Given the description of an element on the screen output the (x, y) to click on. 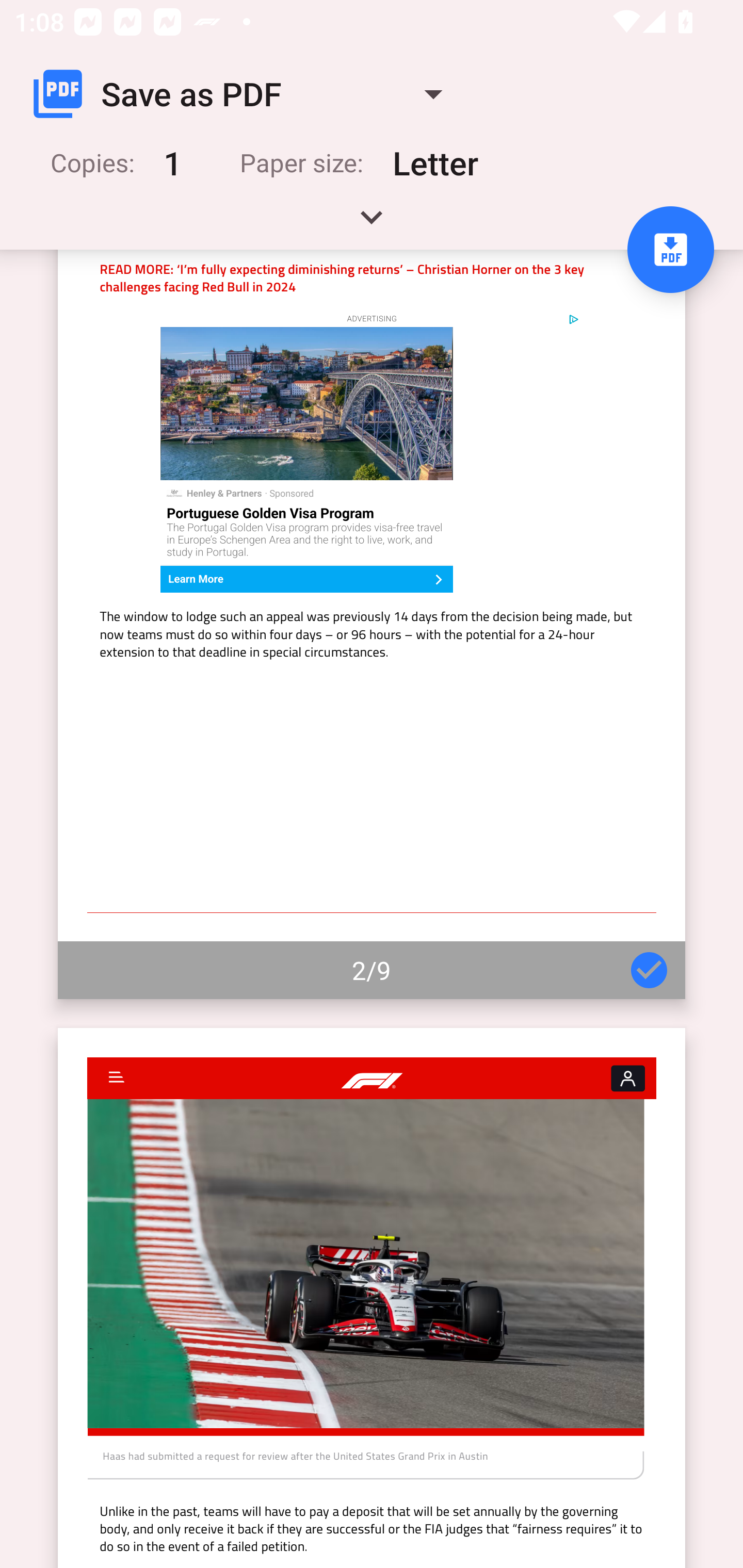
Save as PDF (245, 93)
Expand handle (371, 224)
Save to PDF (670, 249)
Page 2 of 9 2/9 (371, 623)
Page 3 of 9 (371, 1298)
